Given the description of an element on the screen output the (x, y) to click on. 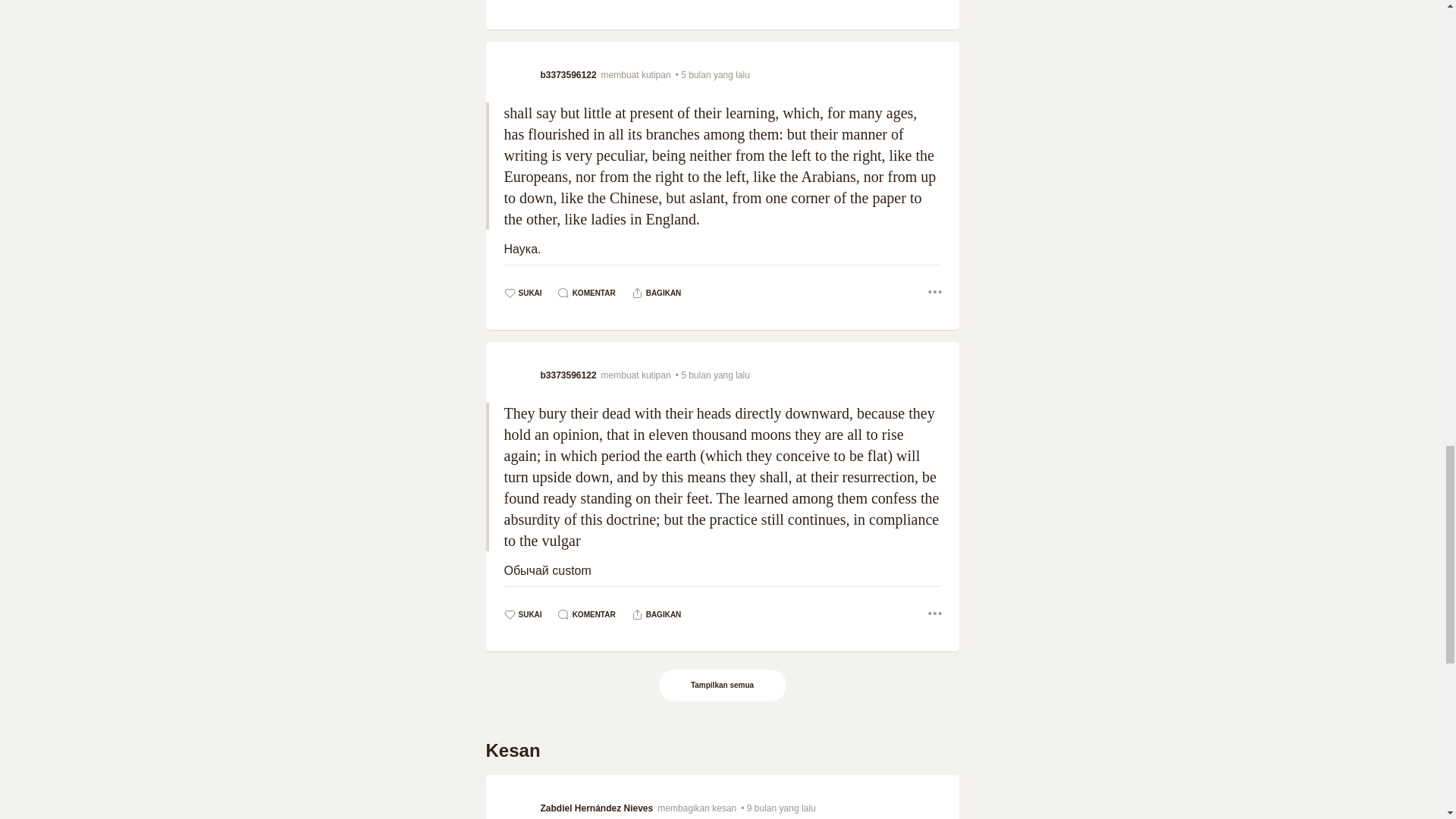
Tampilkan semua (722, 685)
Tampilkan semua (722, 685)
